Given the description of an element on the screen output the (x, y) to click on. 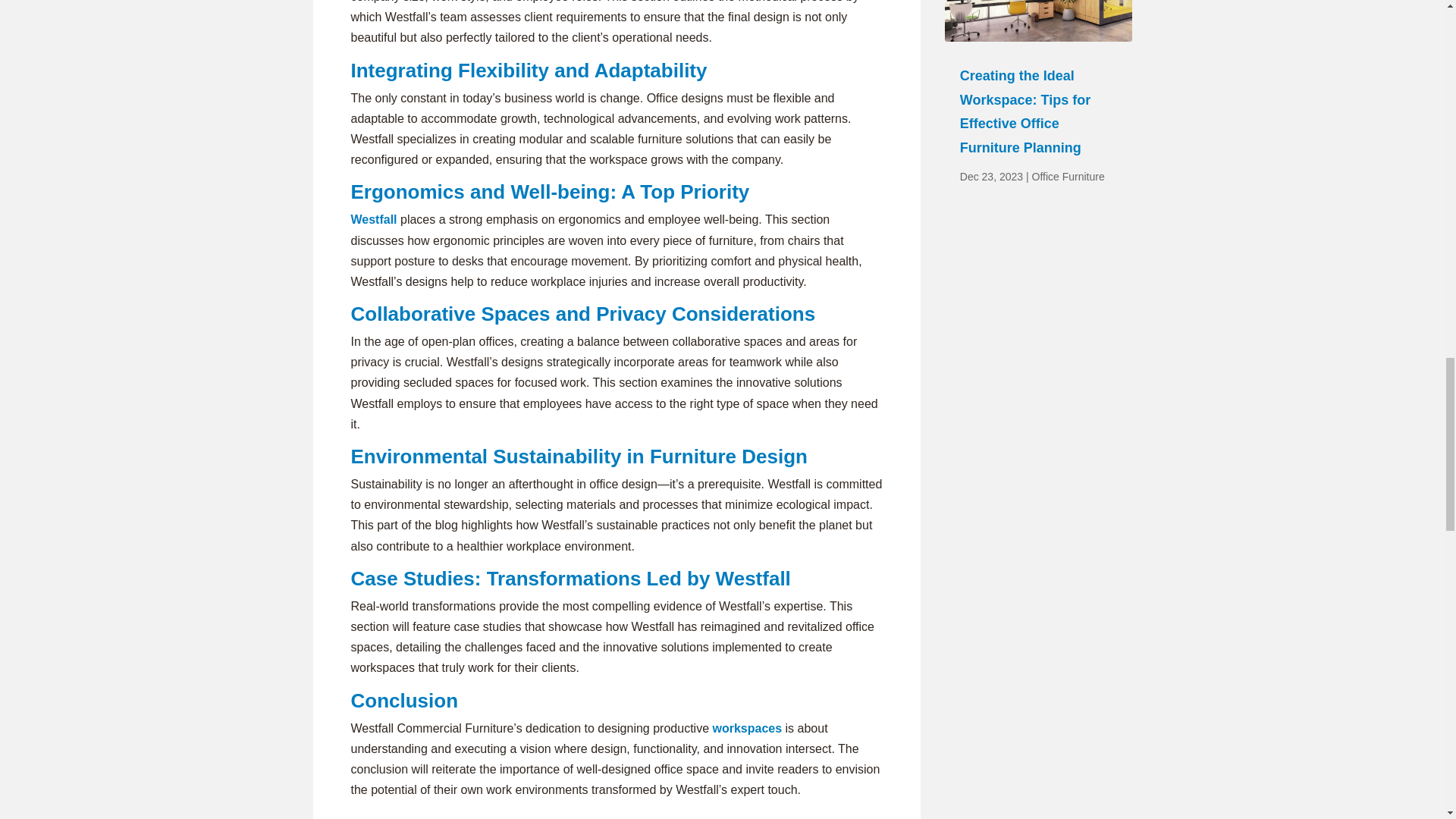
Office Furniture (1066, 176)
Westfall (373, 219)
workspaces (745, 727)
